Given the description of an element on the screen output the (x, y) to click on. 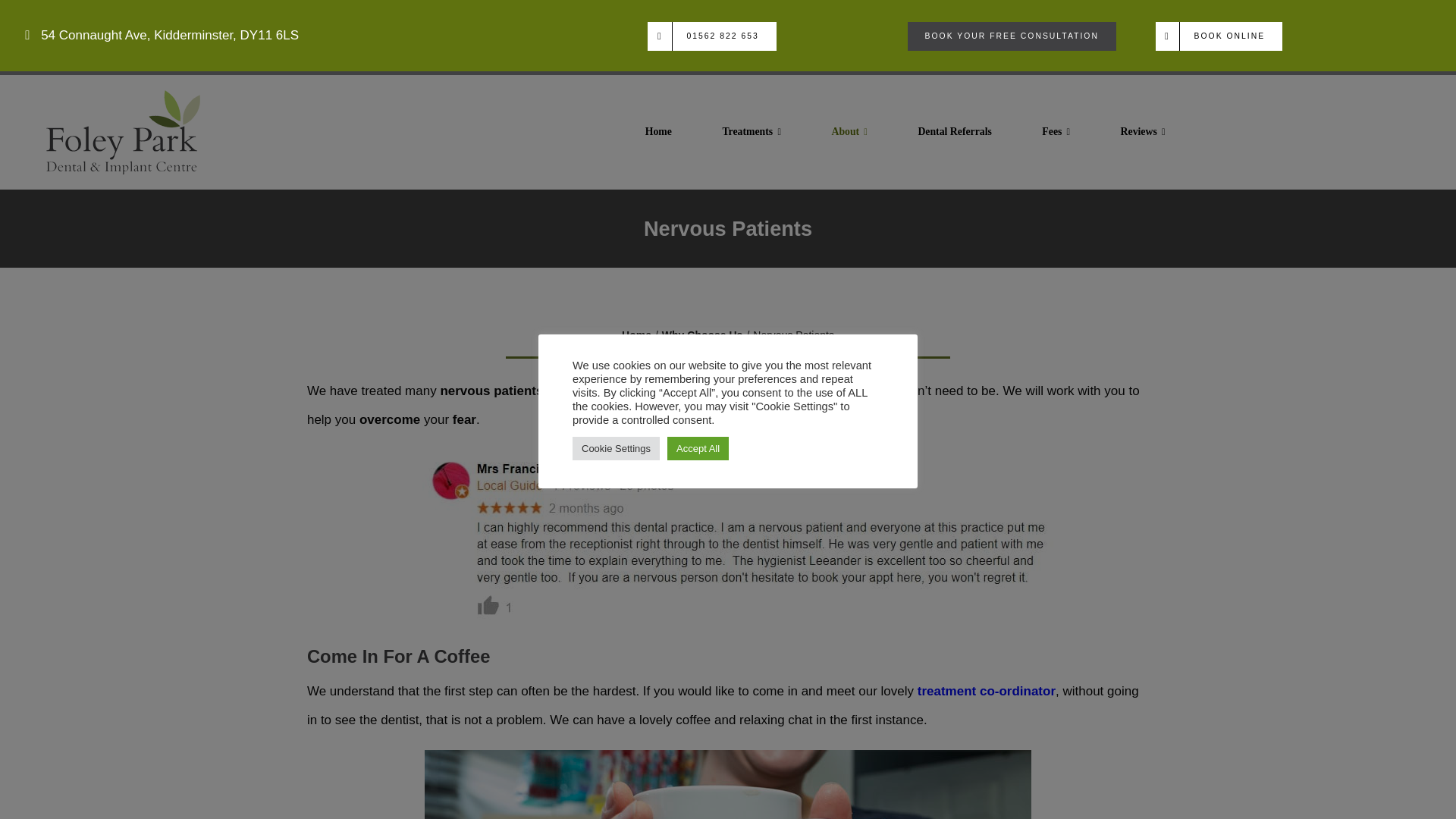
BOOK ONLINE (1210, 36)
01562 822 653 (706, 36)
BOOK YOUR FREE CONSULTATION (1002, 36)
Treatments (745, 131)
